Given the description of an element on the screen output the (x, y) to click on. 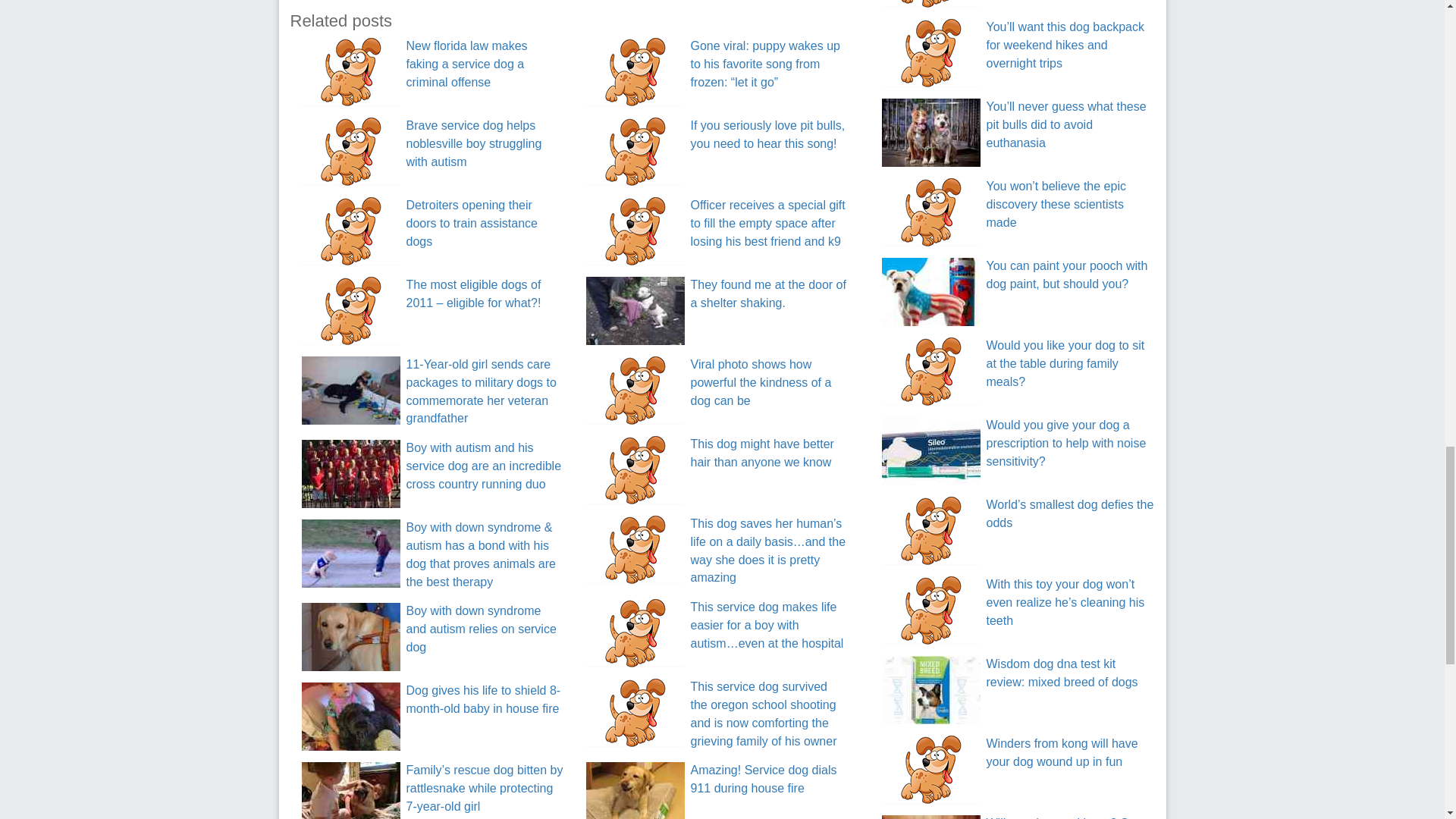
Boy with down syndrome and autism relies on service dog (350, 636)
Dog gives his life to shield 8-month-old baby in house fire (350, 716)
Amazing! Service dog dials 911 during house fire (762, 778)
Detroiters opening their doors to train assistance dogs (471, 223)
